Given the description of an element on the screen output the (x, y) to click on. 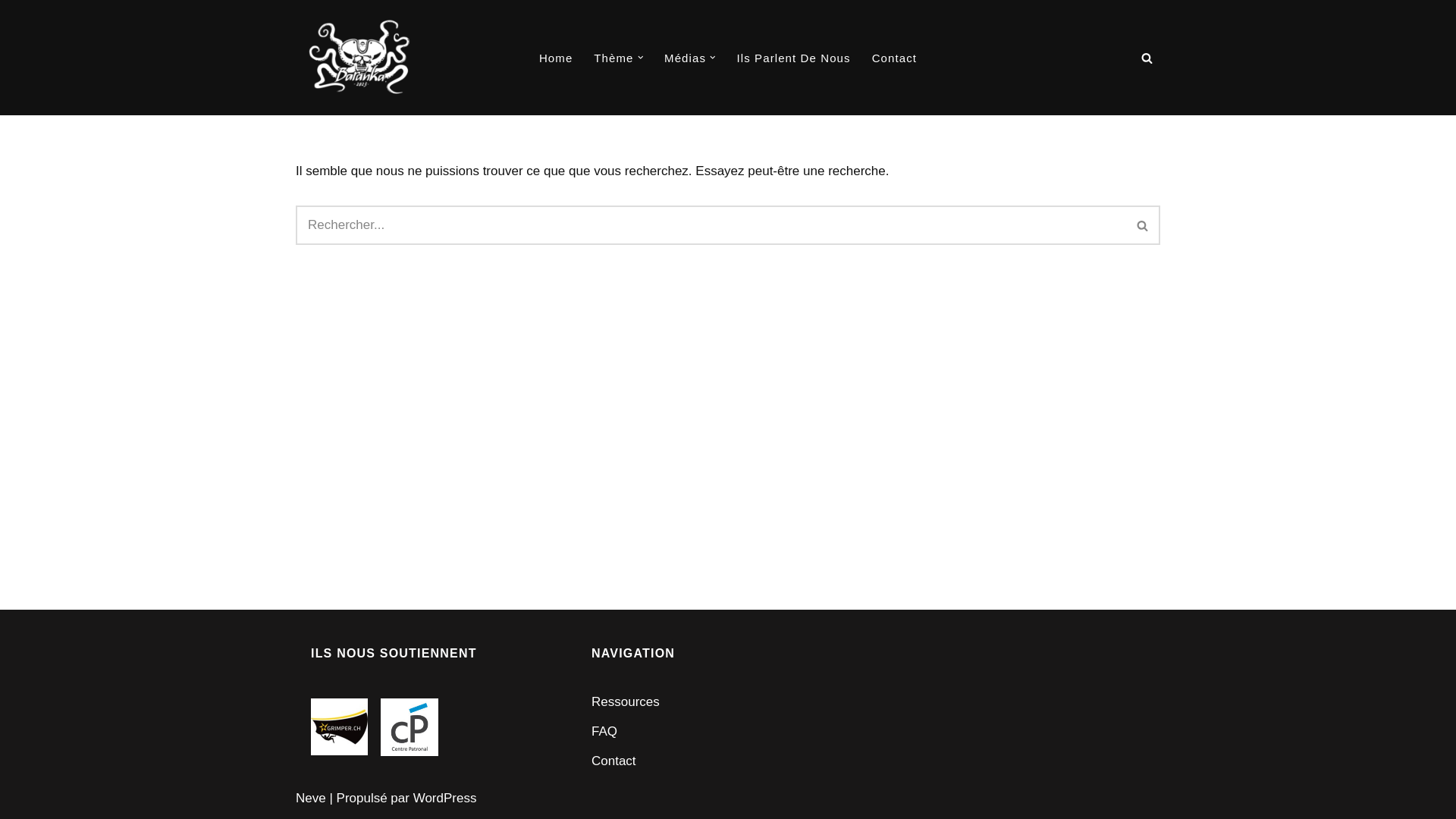
Contact Element type: text (613, 760)
Neve Element type: text (310, 797)
FAQ Element type: text (604, 731)
Ils Parlent De Nous Element type: text (793, 57)
WordPress Element type: text (444, 797)
Ressources Element type: text (625, 701)
Home Element type: text (555, 57)
Aller au contenu Element type: text (11, 31)
Contact Element type: text (894, 57)
